Given the description of an element on the screen output the (x, y) to click on. 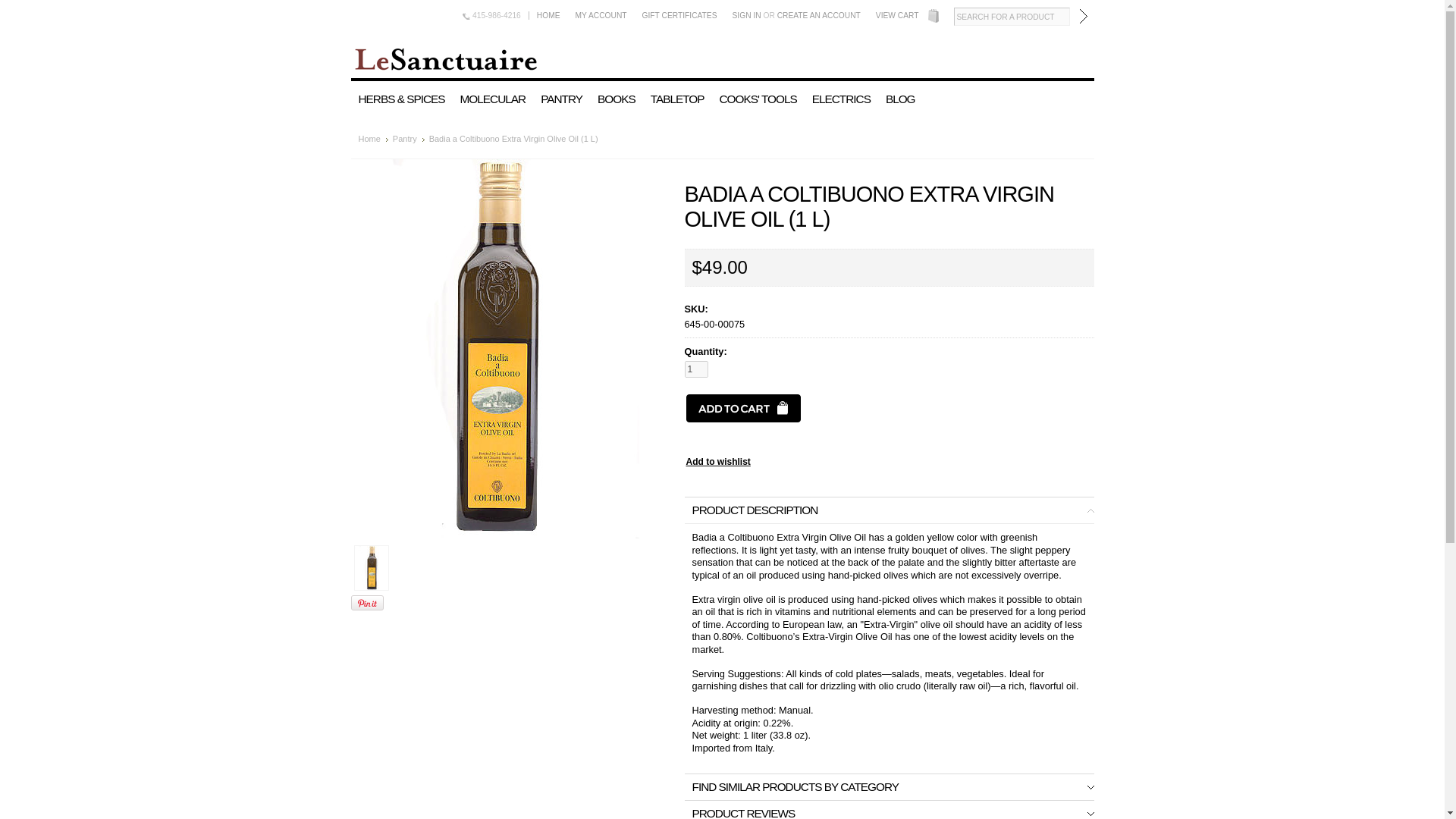
GIFT CERTIFICATES (679, 15)
TABLETOP (677, 99)
CREATE AN ACCOUNT (818, 15)
BOOKS (616, 99)
HOME (548, 15)
PANTRY (560, 99)
SIGN IN (746, 15)
1 (695, 369)
MOLECULAR (493, 99)
Add to wishlist (717, 461)
MY ACCOUNT (600, 15)
COOKS' TOOLS (757, 99)
ELECTRICS (841, 99)
Search for a product (1011, 16)
VIEW CART (896, 15)
